Given the description of an element on the screen output the (x, y) to click on. 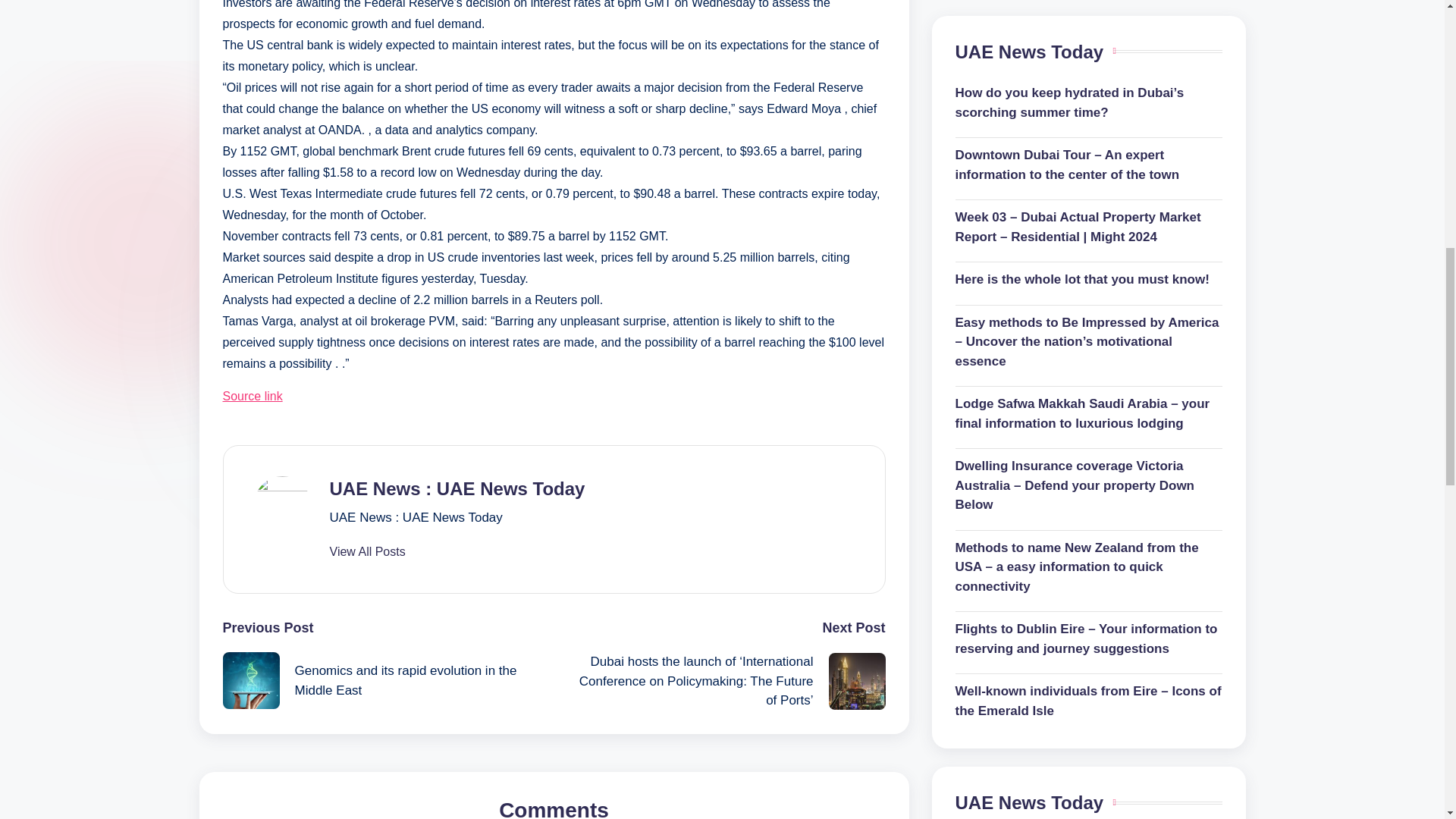
View All Posts (366, 551)
Source link (252, 395)
UAE News : UAE News Today (457, 488)
Genomics and its rapid evolution in the Middle East (388, 680)
